Given the description of an element on the screen output the (x, y) to click on. 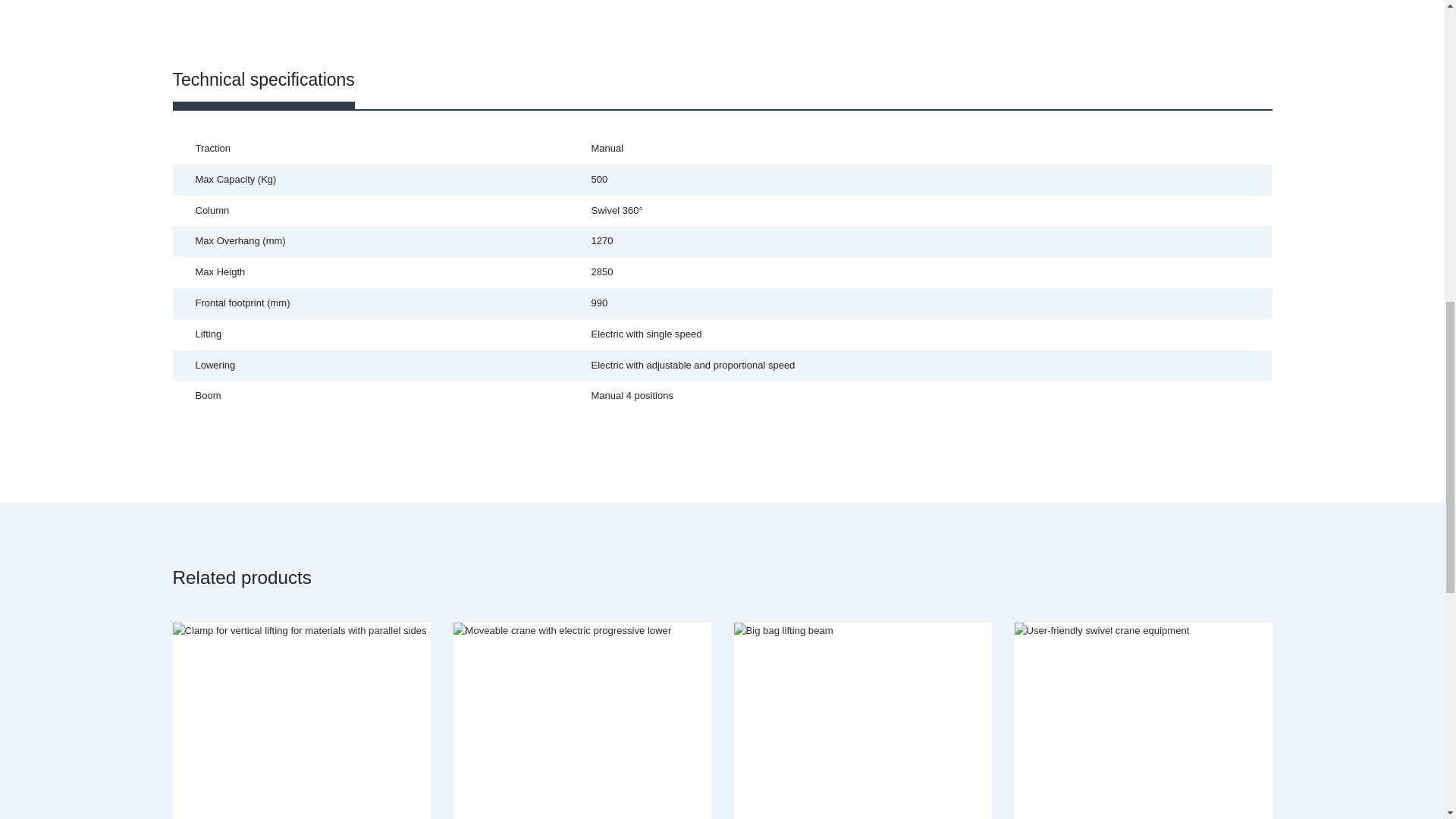
Big bag lifting beam (862, 718)
Clamp for vertical lifting for materials with parallel sides (301, 718)
Moveable crane with electric progressive lower (581, 718)
User-friendly swivel crane equipment (1143, 718)
